Given the description of an element on the screen output the (x, y) to click on. 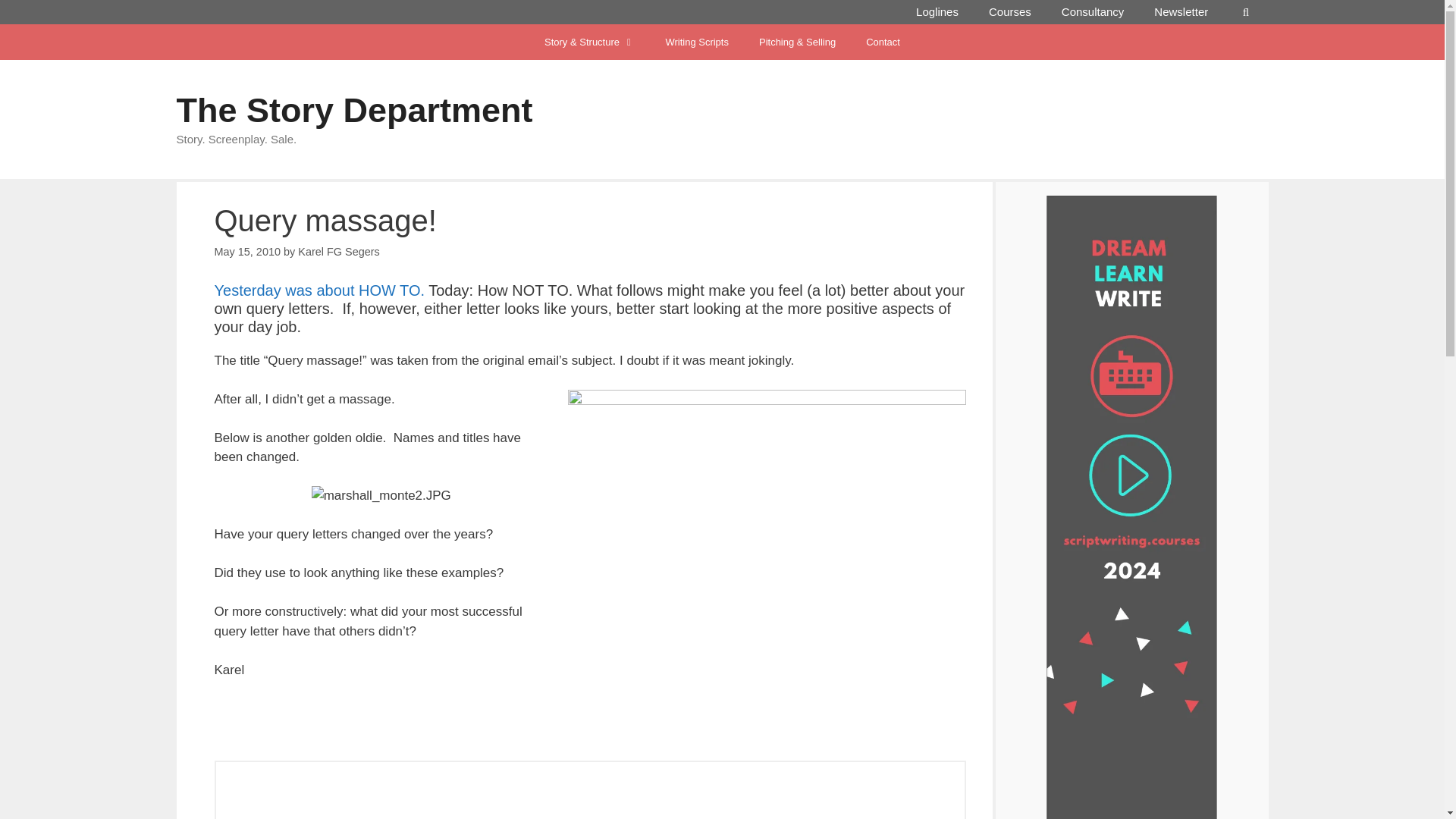
Karel FG Segers (339, 251)
Courses (1010, 12)
Newsletter (1180, 12)
Yesterday was about HOW TO. (319, 289)
Loglines (937, 12)
View all posts by Karel FG Segers (339, 251)
Consultancy (1093, 12)
Writing Scripts (696, 41)
Contact (882, 41)
The Story Department (354, 109)
Karel FG Segers (410, 817)
